Given the description of an element on the screen output the (x, y) to click on. 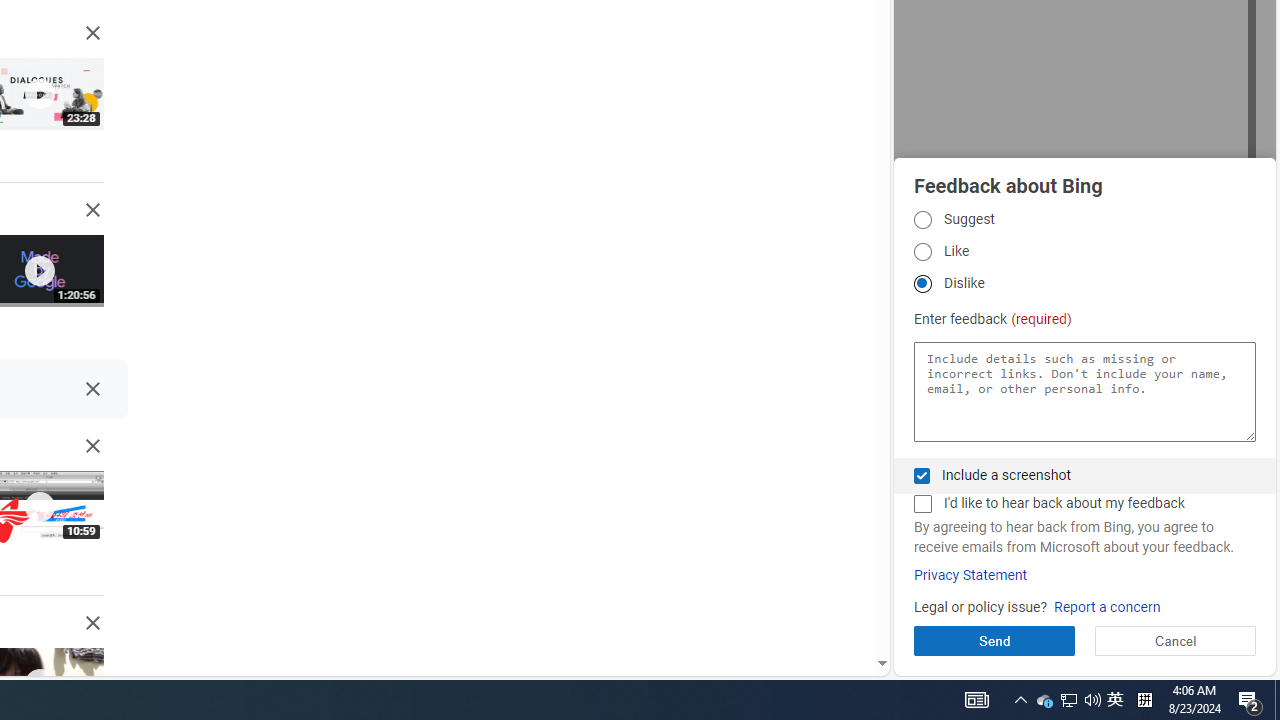
Privacy Statement (970, 575)
AutomationID: fbpgdgtp2 (922, 251)
Report a concern (1106, 607)
Send (994, 640)
Dislike Dislike (922, 284)
